Given the description of an element on the screen output the (x, y) to click on. 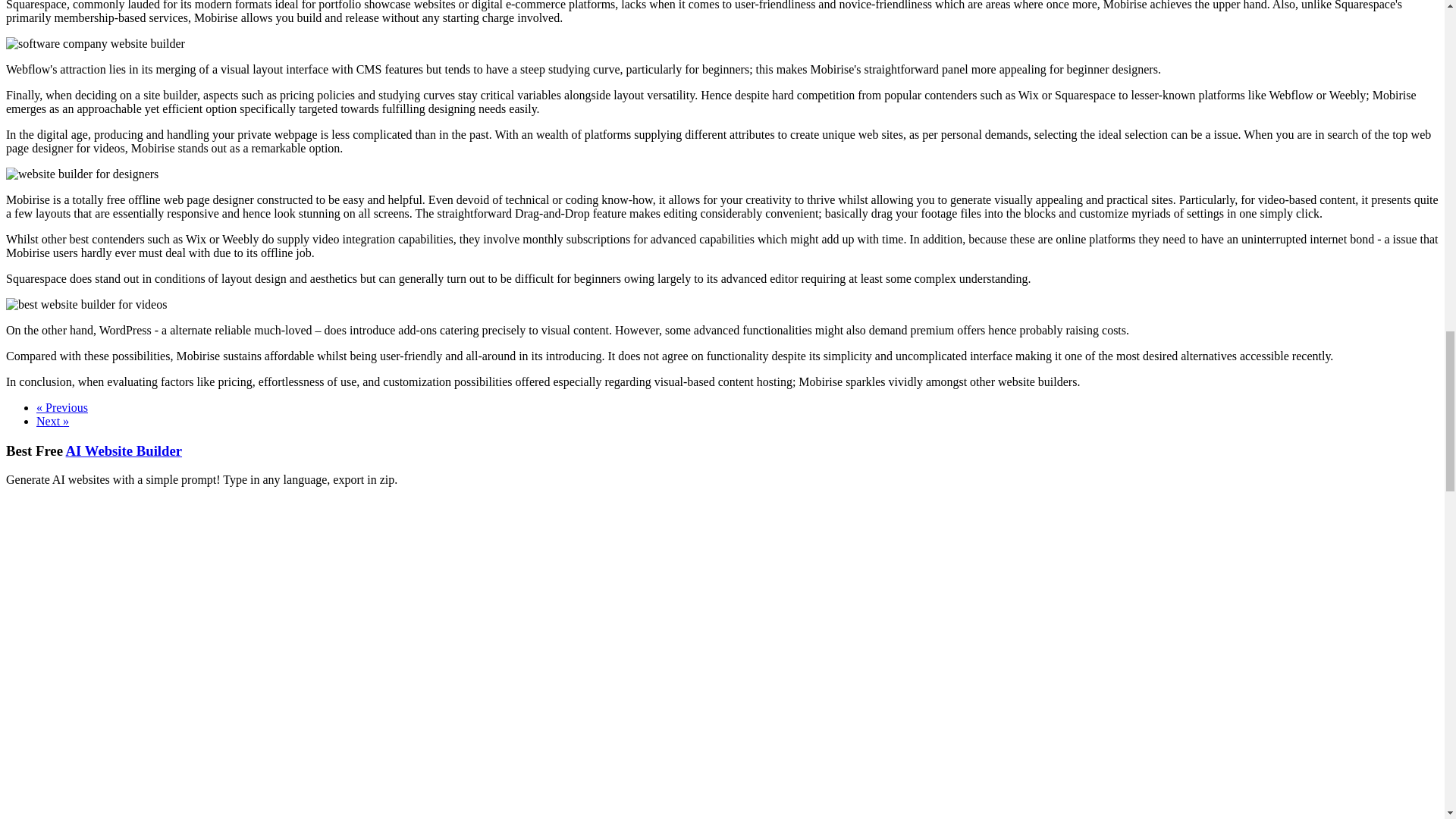
AI Website Builder (123, 450)
